Given the description of an element on the screen output the (x, y) to click on. 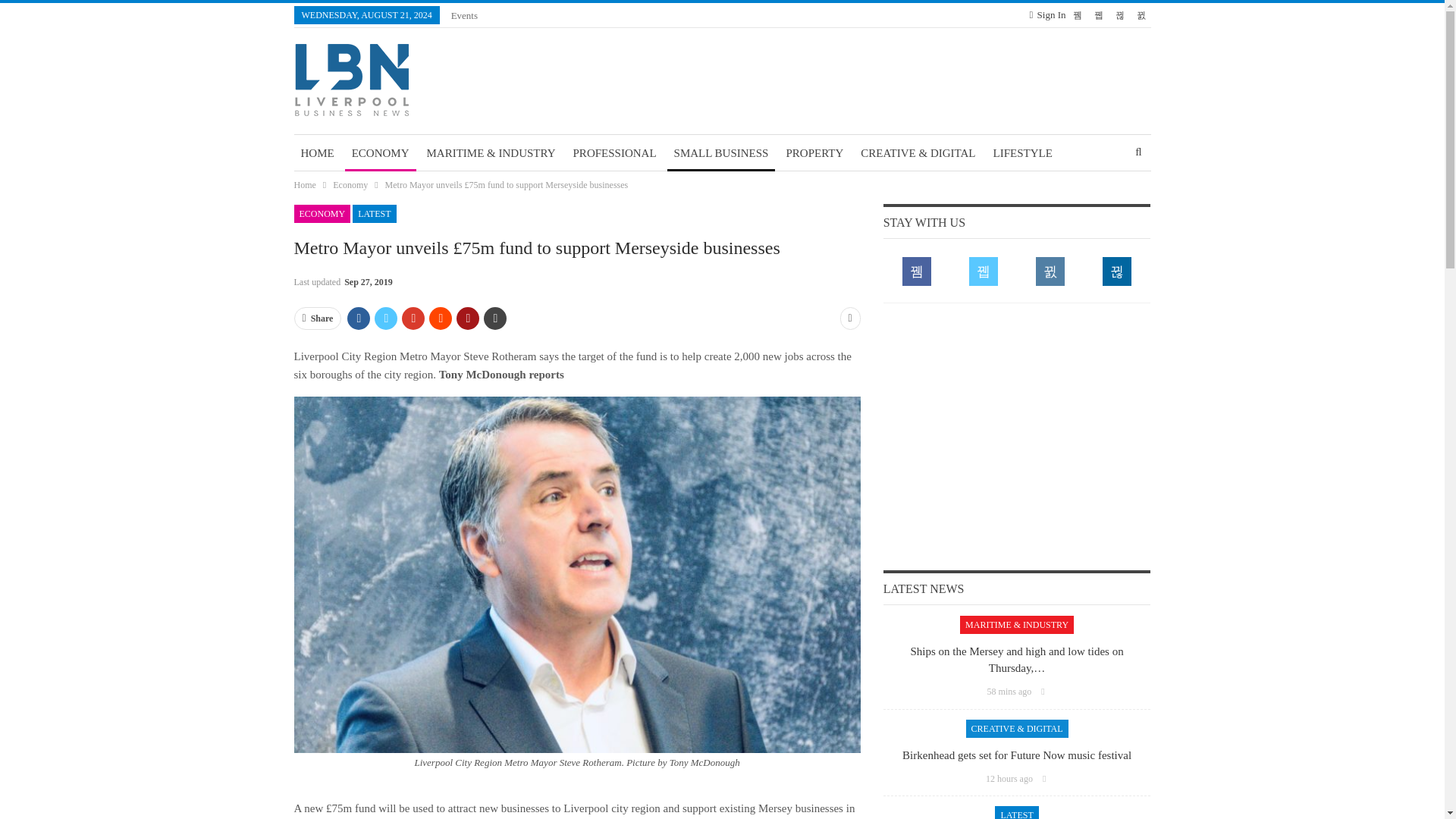
Sign In (1047, 14)
Advertisement (1016, 436)
PROPERTY (814, 153)
Events (464, 15)
SMALL BUSINESS (721, 153)
HOME (317, 153)
LIFESTYLE (1023, 153)
PROFESSIONAL (614, 153)
ECONOMY (380, 153)
